Given the description of an element on the screen output the (x, y) to click on. 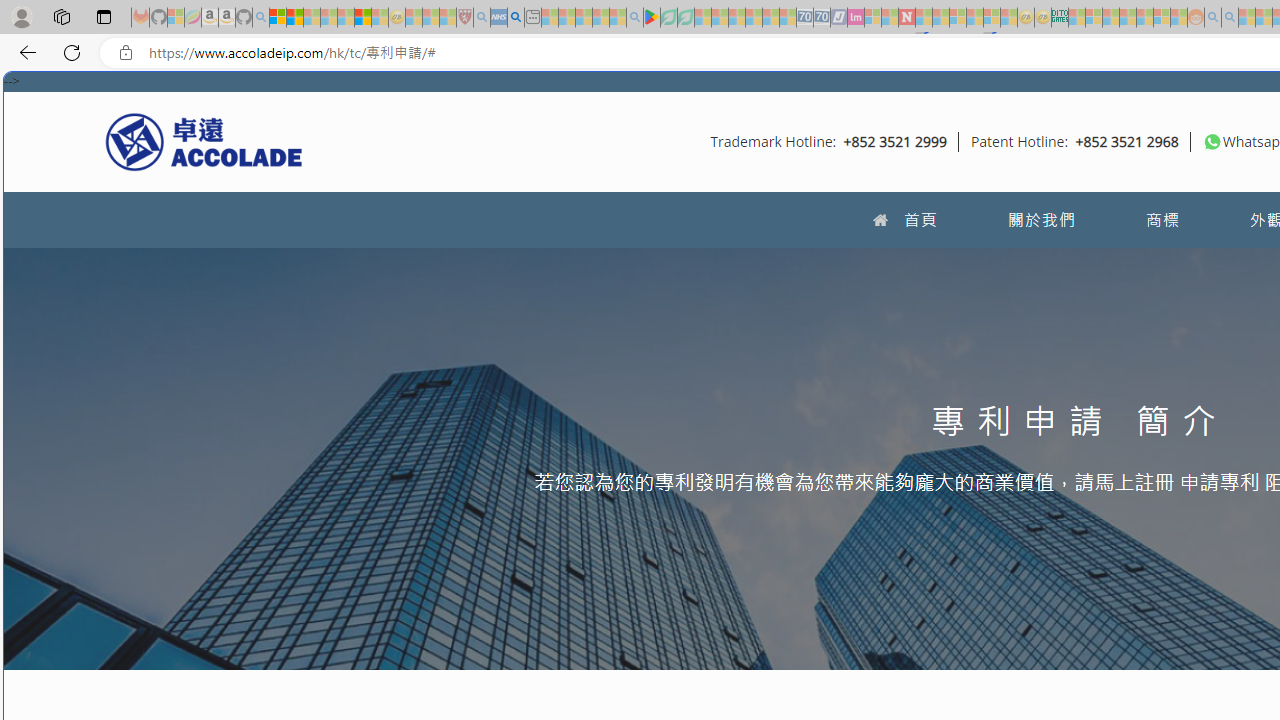
Cheap Car Rentals - Save70.com - Sleeping (804, 17)
google - Search - Sleeping (634, 17)
To get missing image descriptions, open the context menu. (1211, 141)
14 Common Myths Debunked By Scientific Facts - Sleeping (940, 17)
Accolade IP HK Logo (203, 141)
Kinda Frugal - MSN - Sleeping (1144, 17)
